Given the description of an element on the screen output the (x, y) to click on. 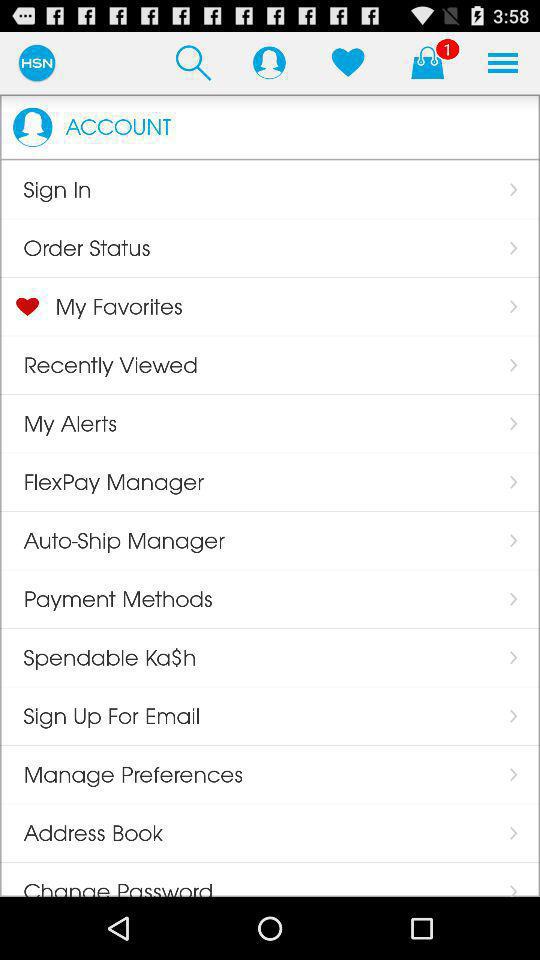
swipe until the payment methods (106, 599)
